Given the description of an element on the screen output the (x, y) to click on. 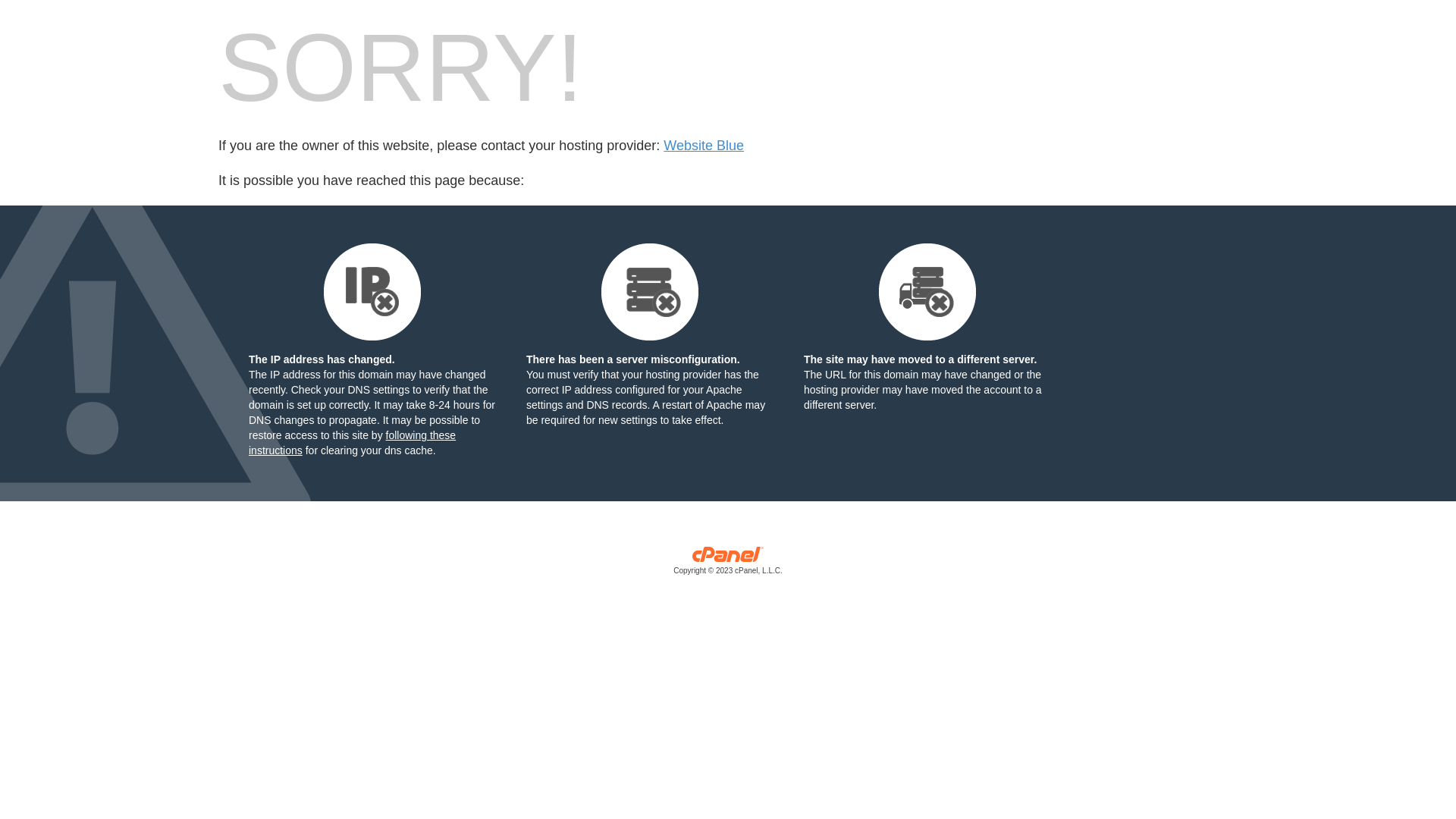
Website Blue Element type: text (703, 145)
following these instructions Element type: text (351, 442)
